Given the description of an element on the screen output the (x, y) to click on. 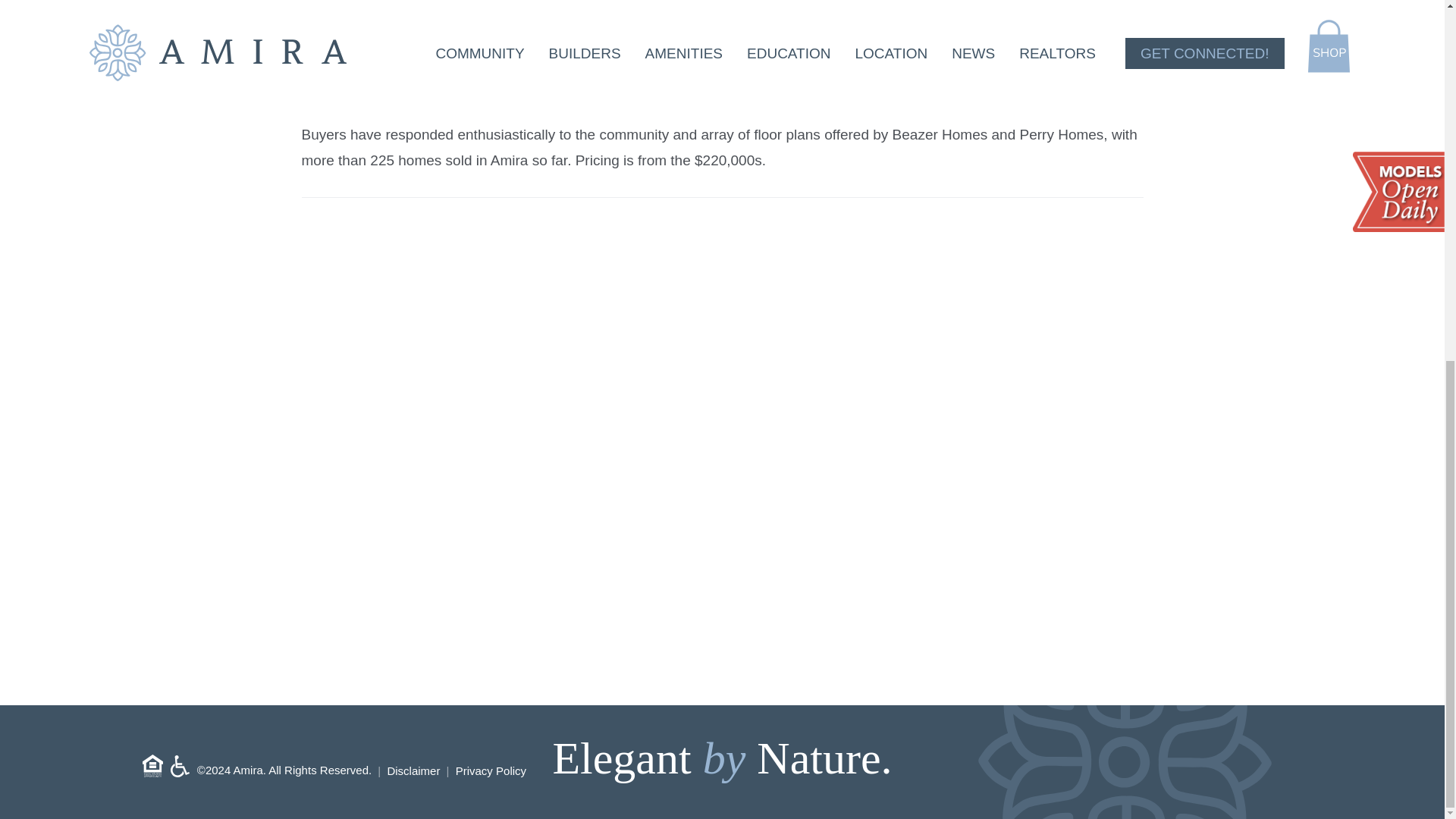
Disclaimer (413, 770)
Privacy Policy (490, 770)
Sign Up (394, 679)
